Given the description of an element on the screen output the (x, y) to click on. 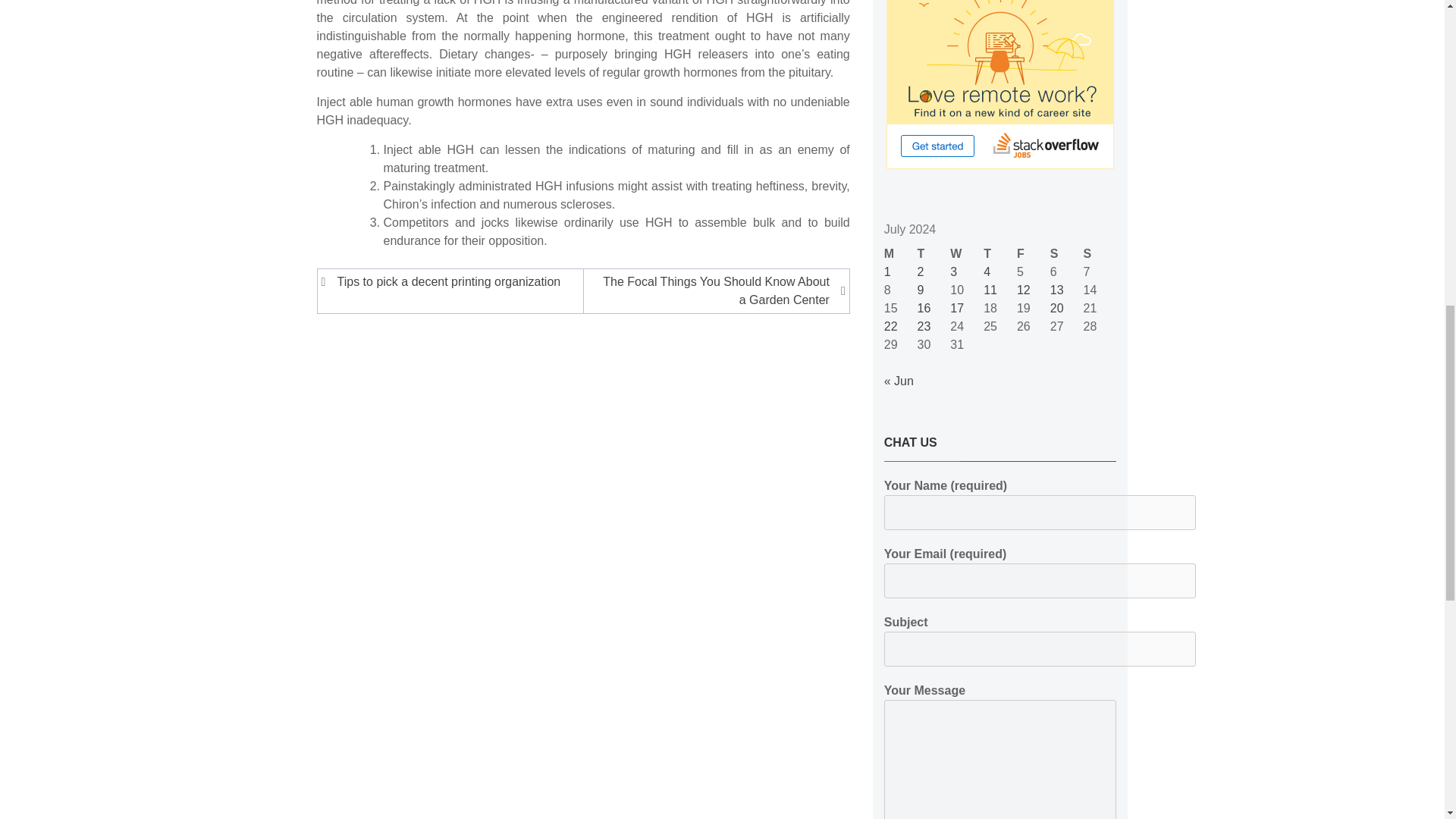
Monday (900, 253)
11 (990, 289)
Tips to pick a decent printing organization (452, 281)
22 (890, 326)
Friday (1032, 253)
Thursday (1000, 253)
13 (1056, 289)
The Focal Things You Should Know About a Garden Center (713, 290)
12 (1023, 289)
17 (956, 308)
Sunday (1099, 253)
Wednesday (967, 253)
16 (924, 308)
Saturday (1066, 253)
Tuesday (933, 253)
